Given the description of an element on the screen output the (x, y) to click on. 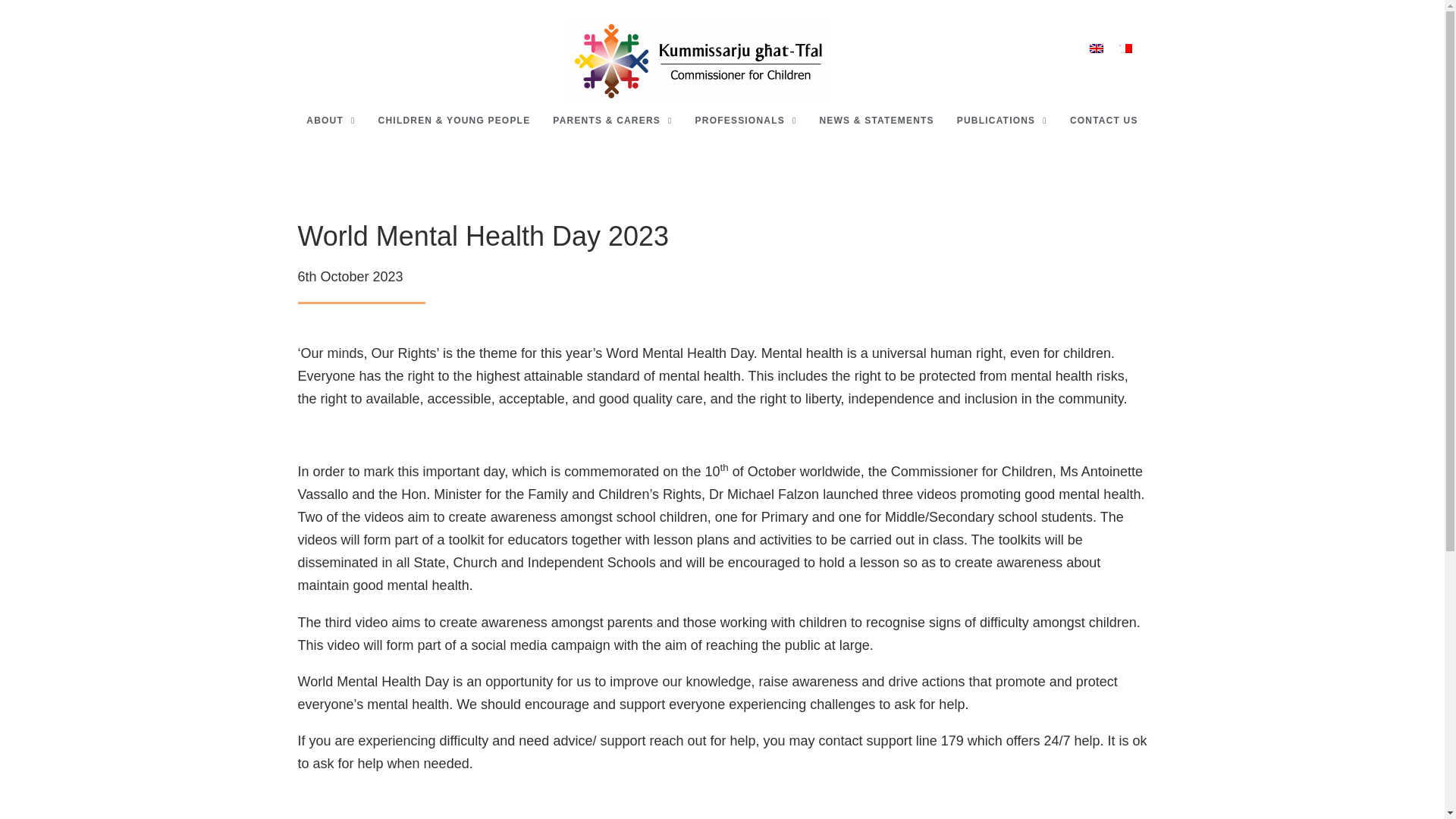
PROFESSIONALS (745, 122)
PUBLICATIONS (1001, 122)
ABOUT (330, 122)
CONTACT US (1104, 122)
